Given the description of an element on the screen output the (x, y) to click on. 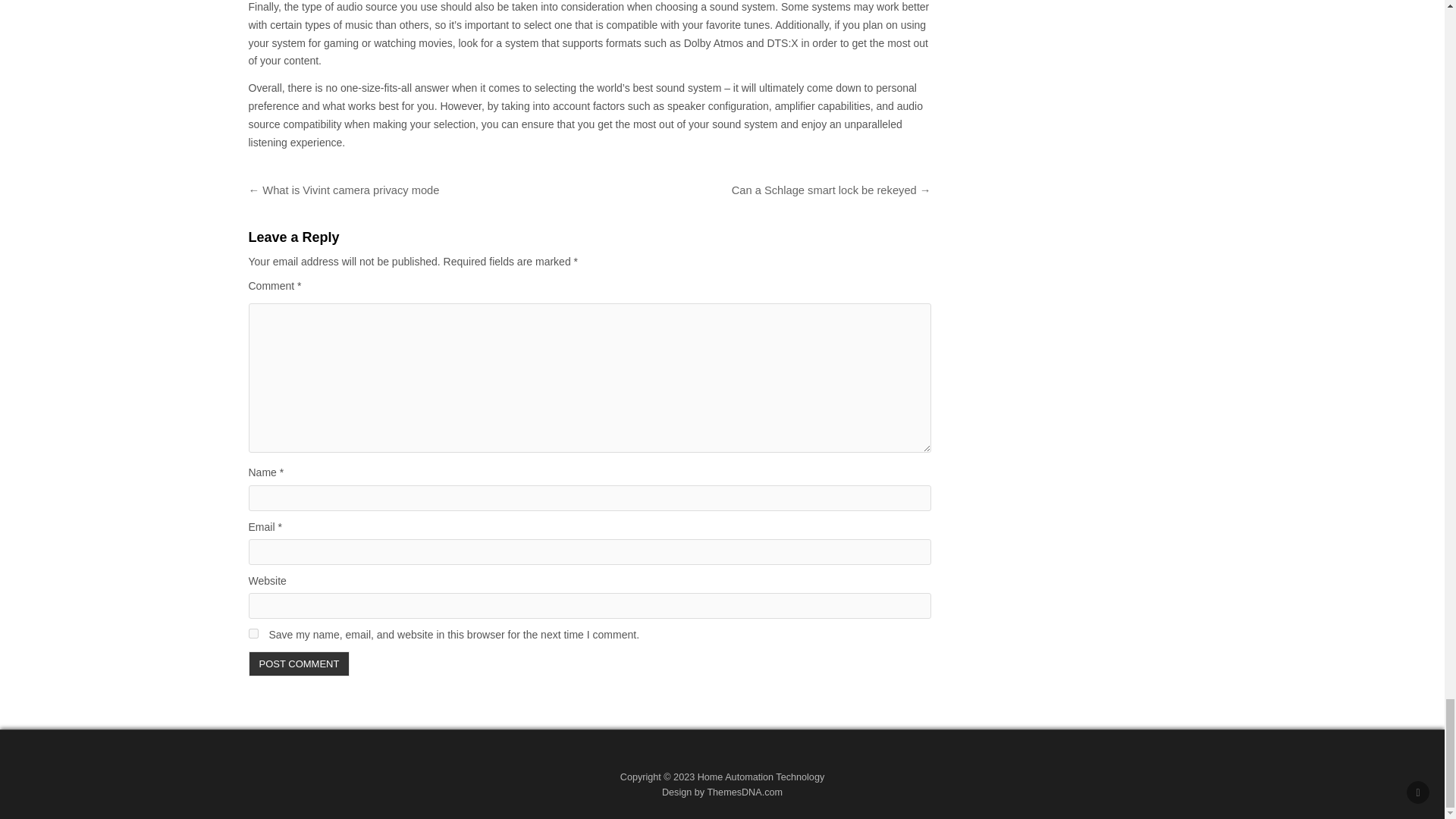
yes (253, 633)
Post Comment (299, 663)
Post Comment (299, 663)
Design by ThemesDNA.com (722, 792)
